Given the description of an element on the screen output the (x, y) to click on. 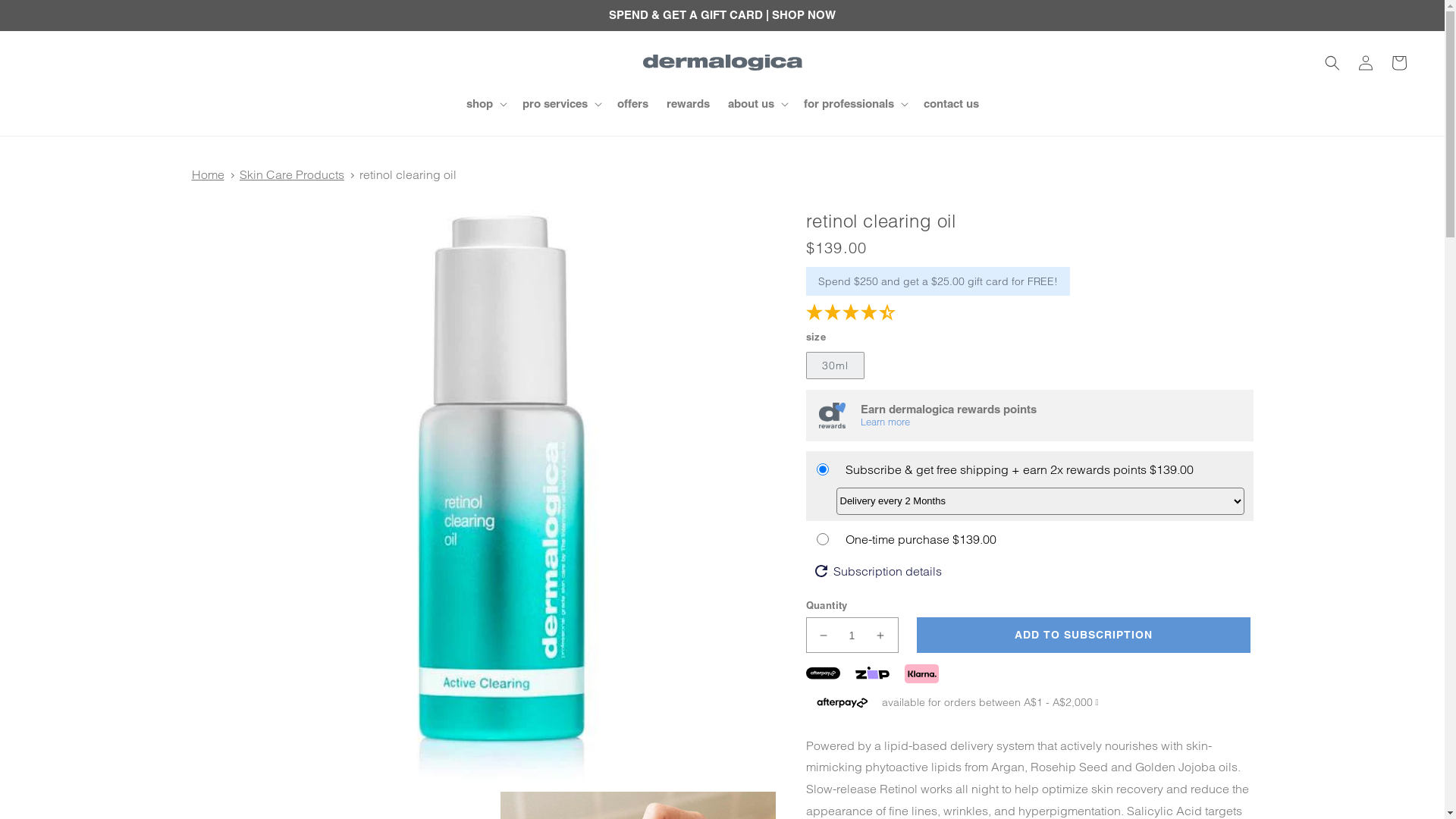
rewards Element type: text (687, 103)
offers Element type: text (632, 103)
Learn more Element type: text (947, 421)
Decrease quantity for retinol clearing oil Element type: text (823, 634)
contact us Element type: text (951, 103)
Subscription details Element type: text (877, 570)
ADD TO SUBSCRIPTION Element type: text (1082, 634)
retinol clearing oil Element type: text (407, 174)
Home Element type: text (207, 174)
SKIP TO PRODUCT INFORMATION Element type: text (268, 208)
view our online exclusive special offers Element type: text (722, 15)
4.28 Stars - 162 Reviews Element type: hover (1028, 314)
Bag Element type: text (1398, 61)
Log in Element type: text (1365, 61)
Skin Care Products Element type: text (291, 174)
Increase quantity for retinol clearing oil Element type: text (879, 634)
